Given the description of an element on the screen output the (x, y) to click on. 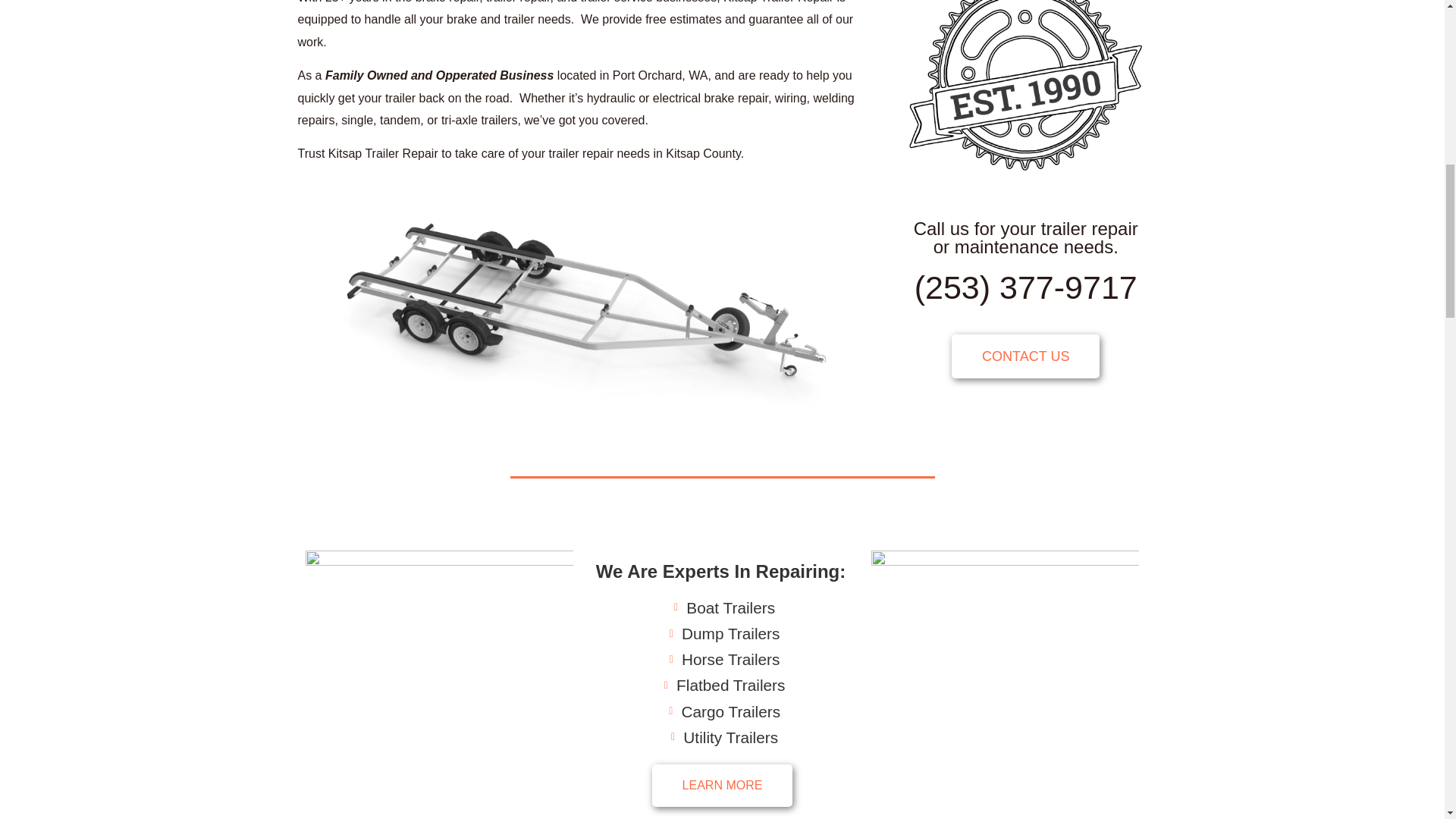
LEARN MORE (722, 785)
CONTACT US (1025, 356)
